Given the description of an element on the screen output the (x, y) to click on. 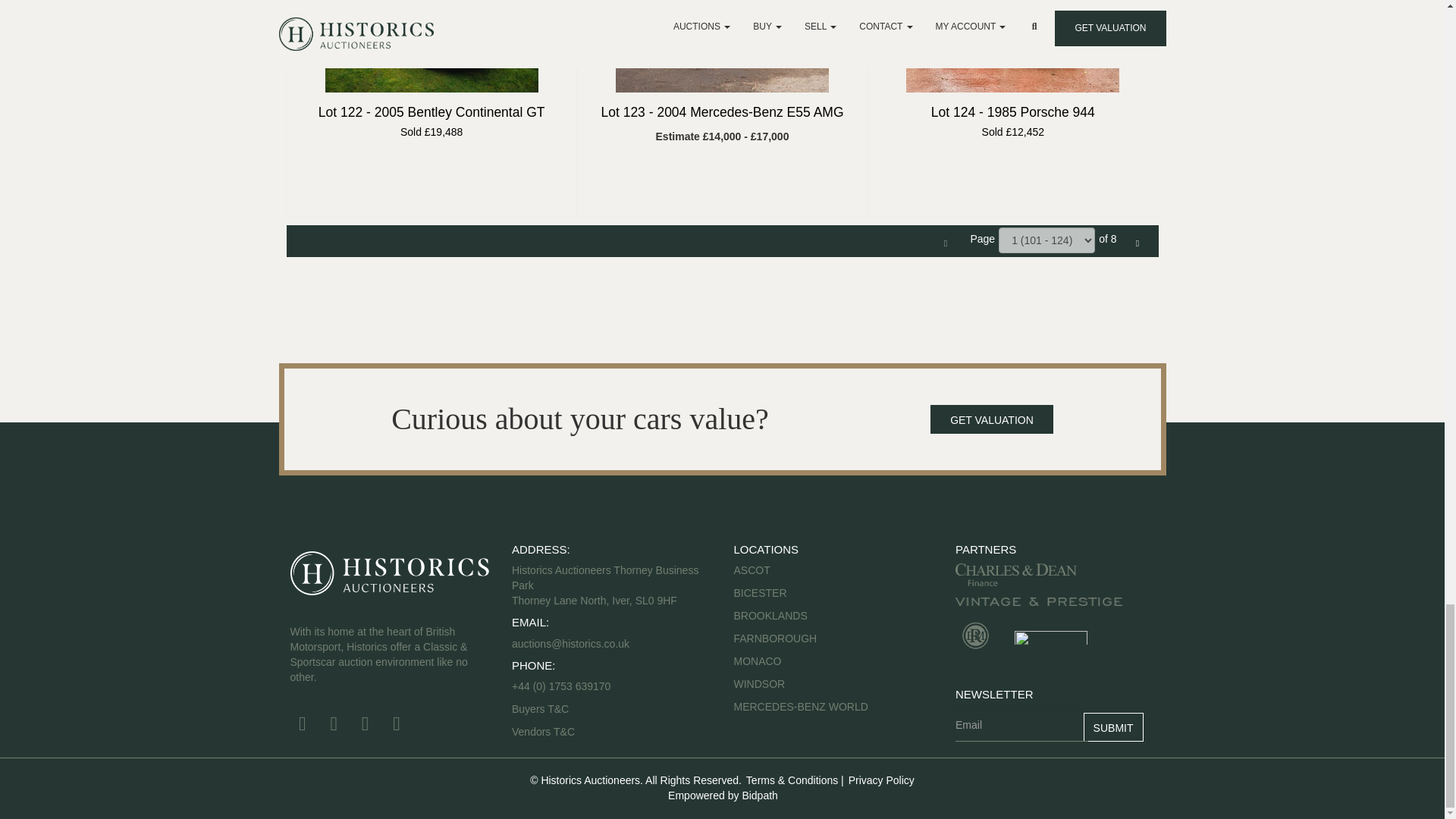
Go to our facebook page (303, 726)
Go to our youtube page (366, 726)
Go to our twitter page (335, 726)
Go to our instagram page (398, 726)
Privacy Policy (880, 779)
Submit (1112, 727)
